Given the description of an element on the screen output the (x, y) to click on. 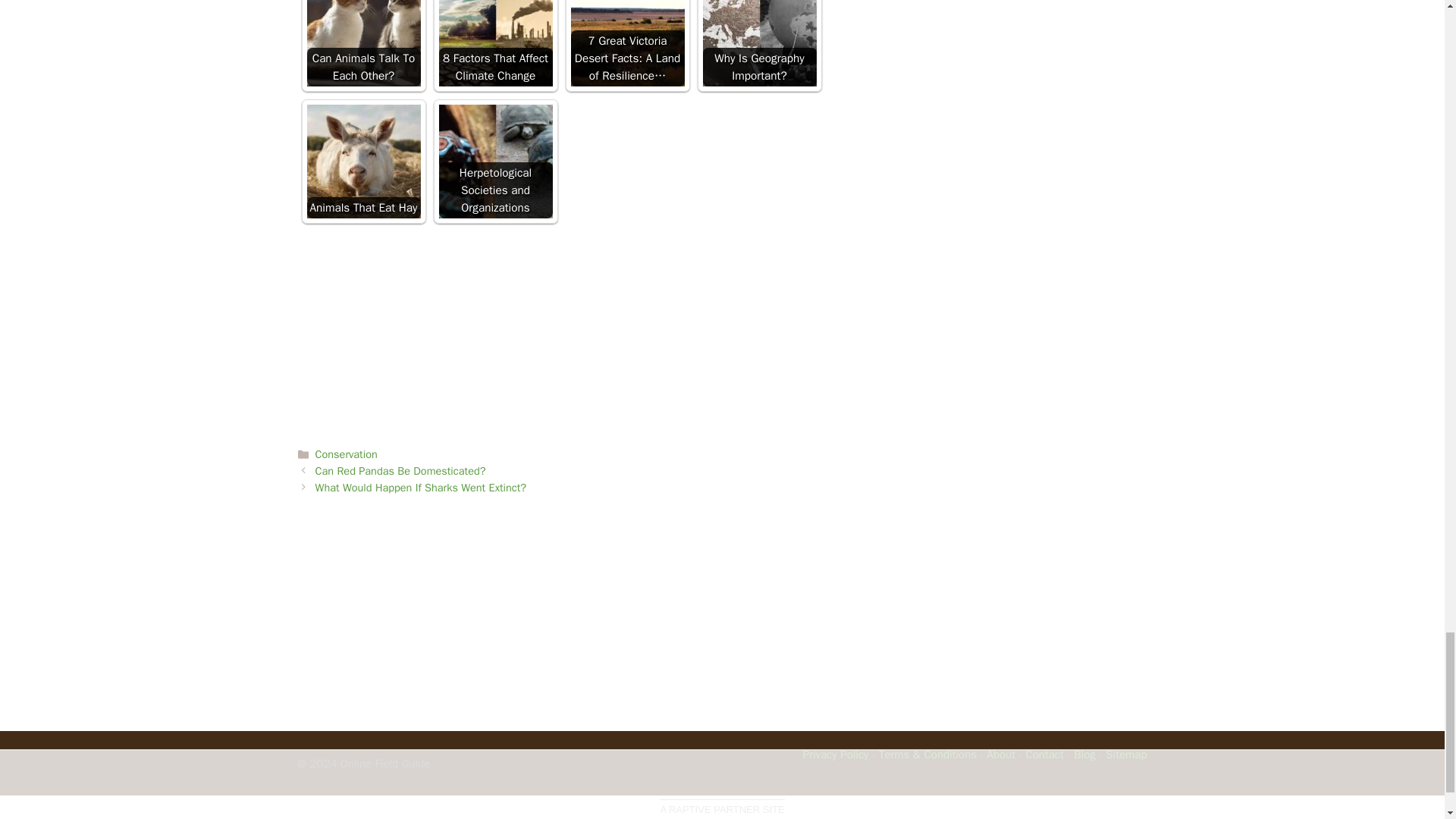
Animals That Eat Hay (362, 161)
Can Red Pandas Be Domesticated? (400, 470)
Contact (1043, 754)
Can Animals Talk To Each Other? (362, 43)
Herpetological Societies and Organizations (494, 161)
What Would Happen If Sharks Went Extinct? (421, 487)
Herpetological Societies and Organizations (494, 161)
Privacy Policy (836, 754)
Can Animals Talk To Each Other? (362, 43)
